Given the description of an element on the screen output the (x, y) to click on. 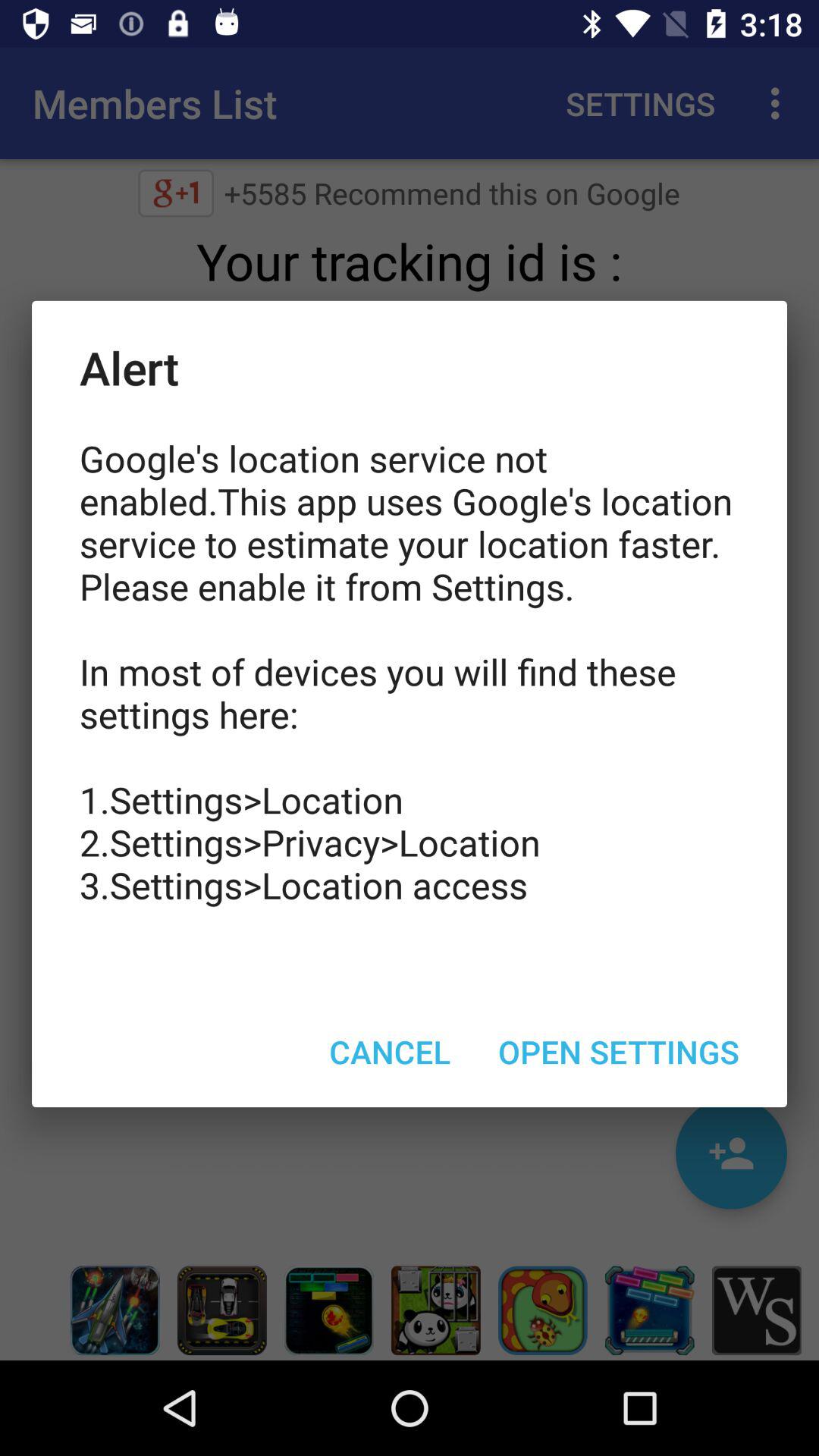
press item below google s location icon (389, 1051)
